Given the description of an element on the screen output the (x, y) to click on. 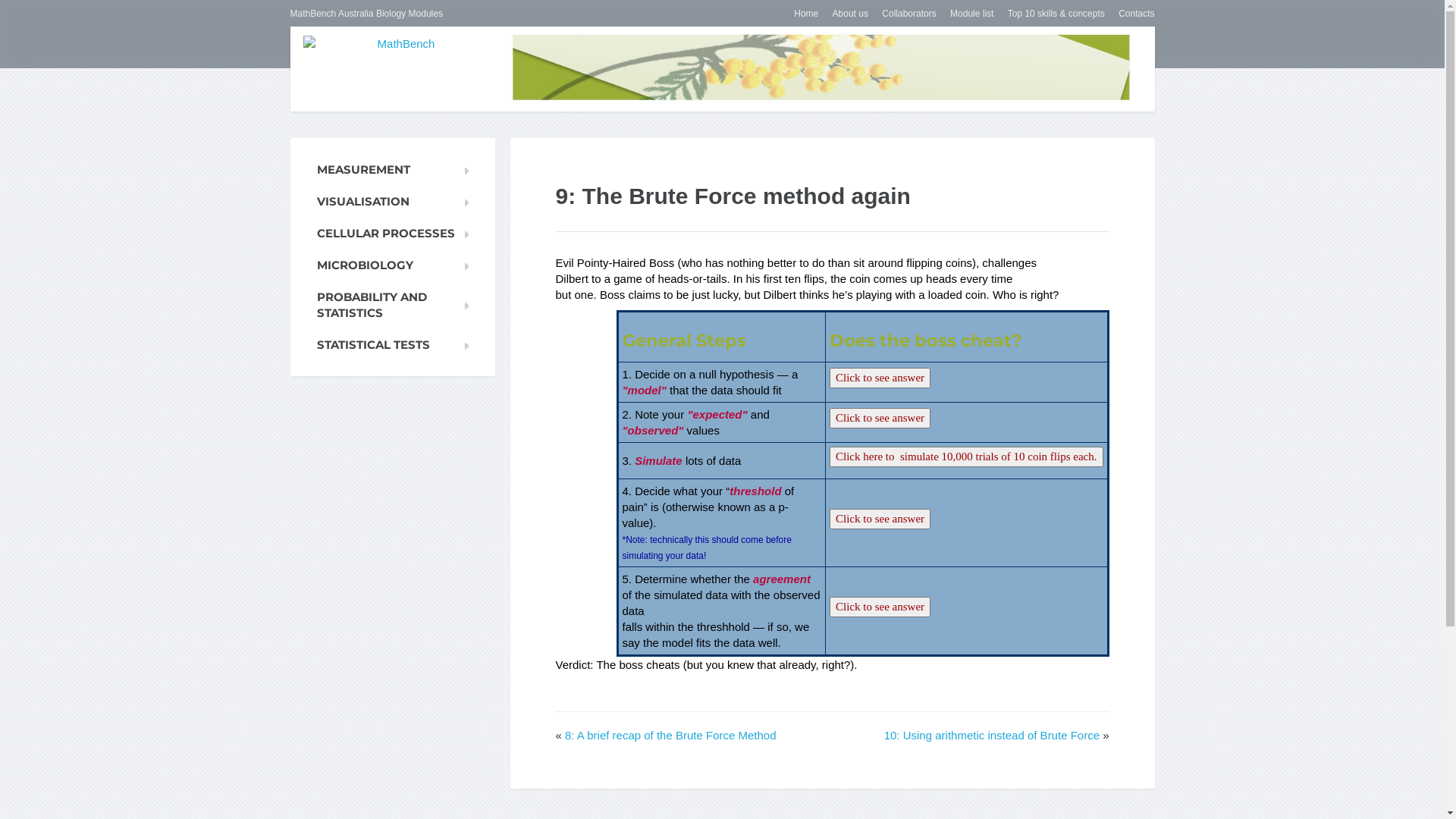
Home Element type: text (800, 13)
Collaborators Element type: text (902, 13)
About us Element type: text (844, 13)
Click to see answer Element type: text (879, 417)
Click here to  simulate 10,000 trials of 10 coin flips each. Element type: text (966, 456)
Click to see answer Element type: text (879, 518)
CELLULAR PROCESSES Element type: text (391, 232)
8: A brief recap of the Brute Force Method Element type: text (670, 734)
Click to see answer Element type: text (879, 377)
Contacts Element type: text (1130, 13)
STATISTICAL TESTS Element type: text (391, 344)
Click to see answer Element type: text (879, 606)
Module list Element type: text (965, 13)
PROBABILITY AND STATISTICS Element type: text (391, 304)
10: Using arithmetic instead of Brute Force Element type: text (991, 734)
Top 10 skills & concepts Element type: text (1050, 13)
MEASUREMENT Element type: text (391, 169)
MICROBIOLOGY Element type: text (391, 264)
VISUALISATION Element type: text (391, 200)
